Given the description of an element on the screen output the (x, y) to click on. 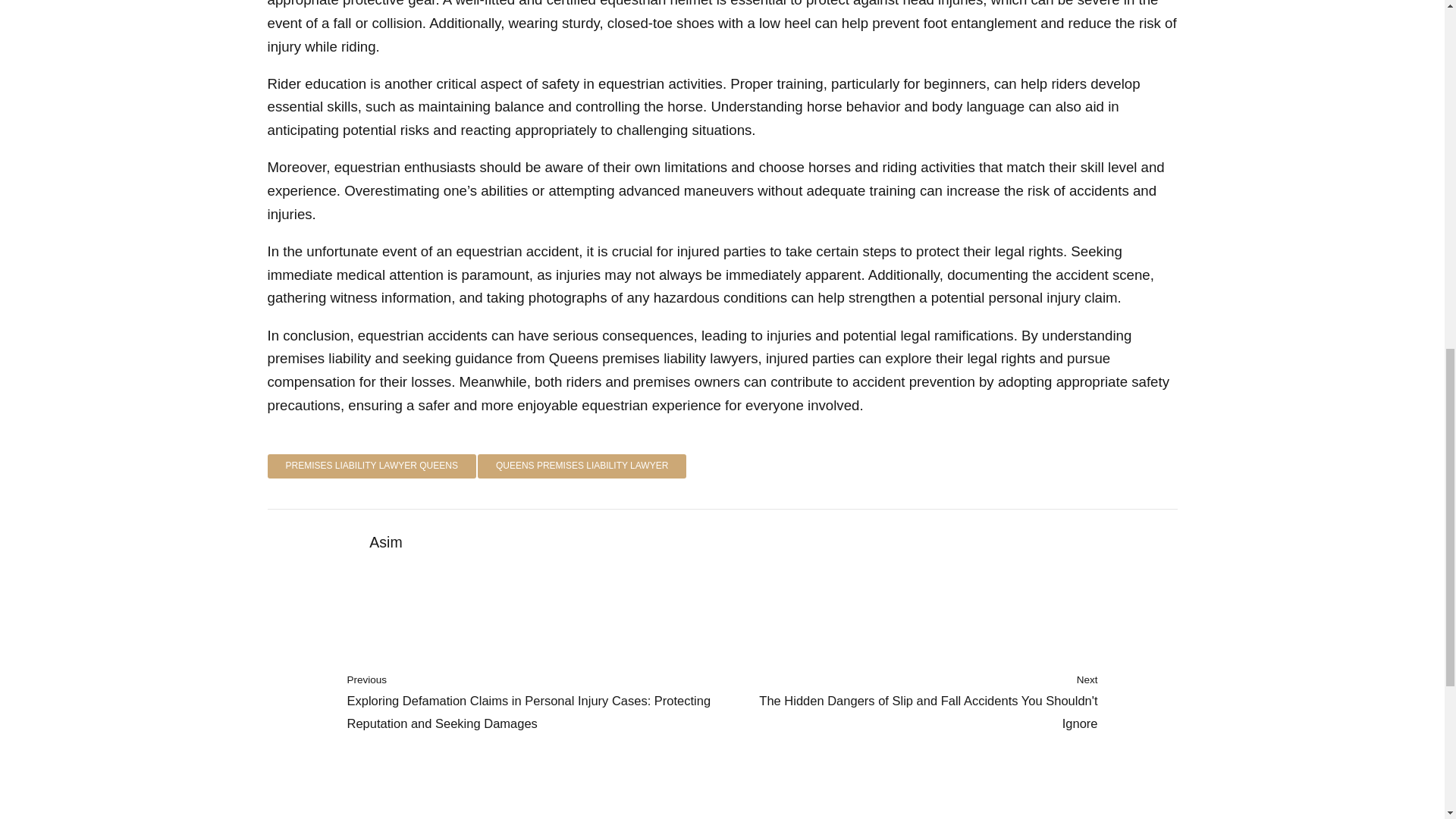
PREMISES LIABILITY LAWYER QUEENS (371, 466)
QUEENS PREMISES LIABILITY LAWYER (581, 466)
